Given the description of an element on the screen output the (x, y) to click on. 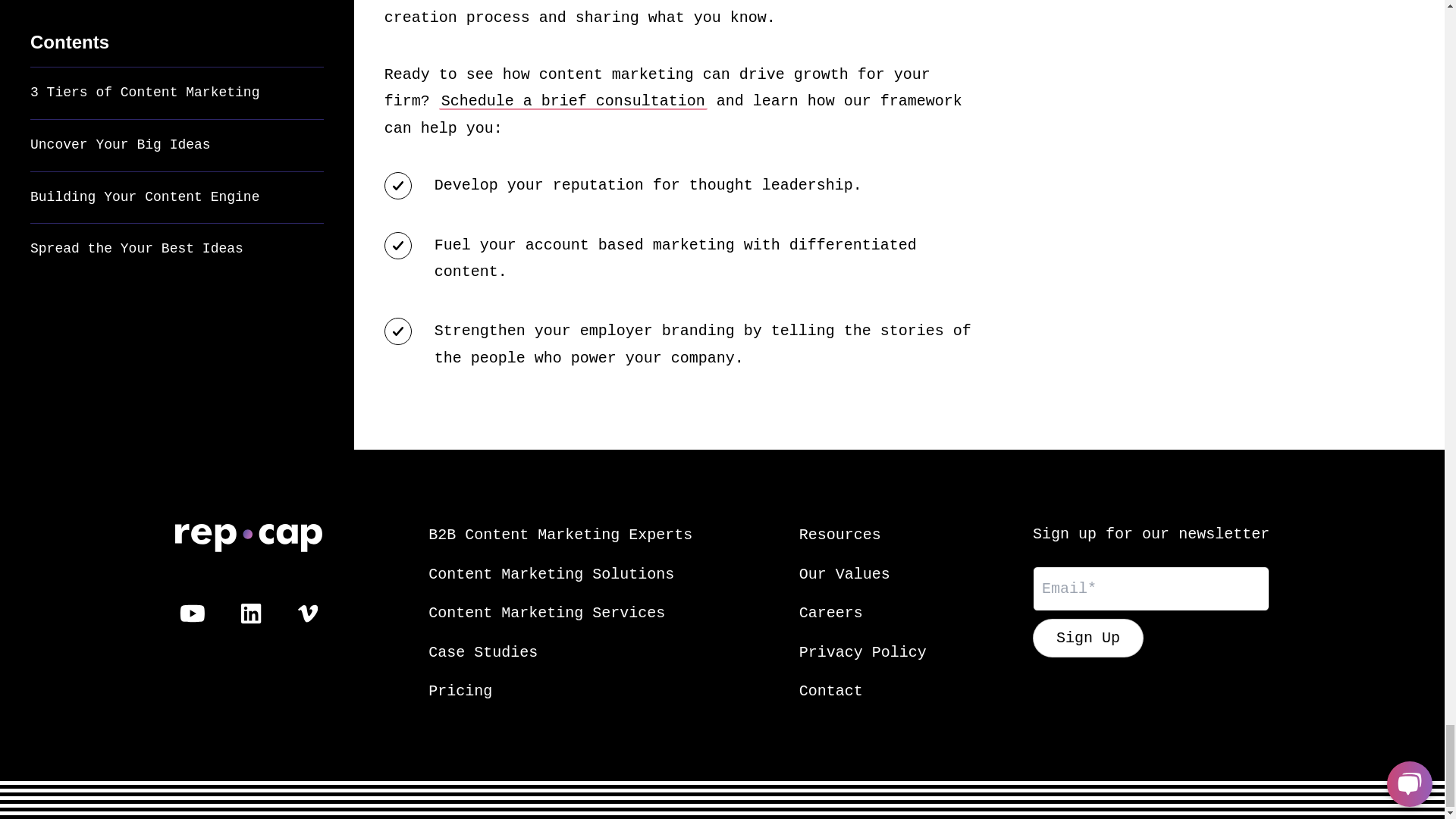
Sign Up (1087, 638)
Schedule a brief consultation (573, 100)
Sign Up (1087, 638)
Visit Rep Caps Youtube Channel (192, 612)
